Given the description of an element on the screen output the (x, y) to click on. 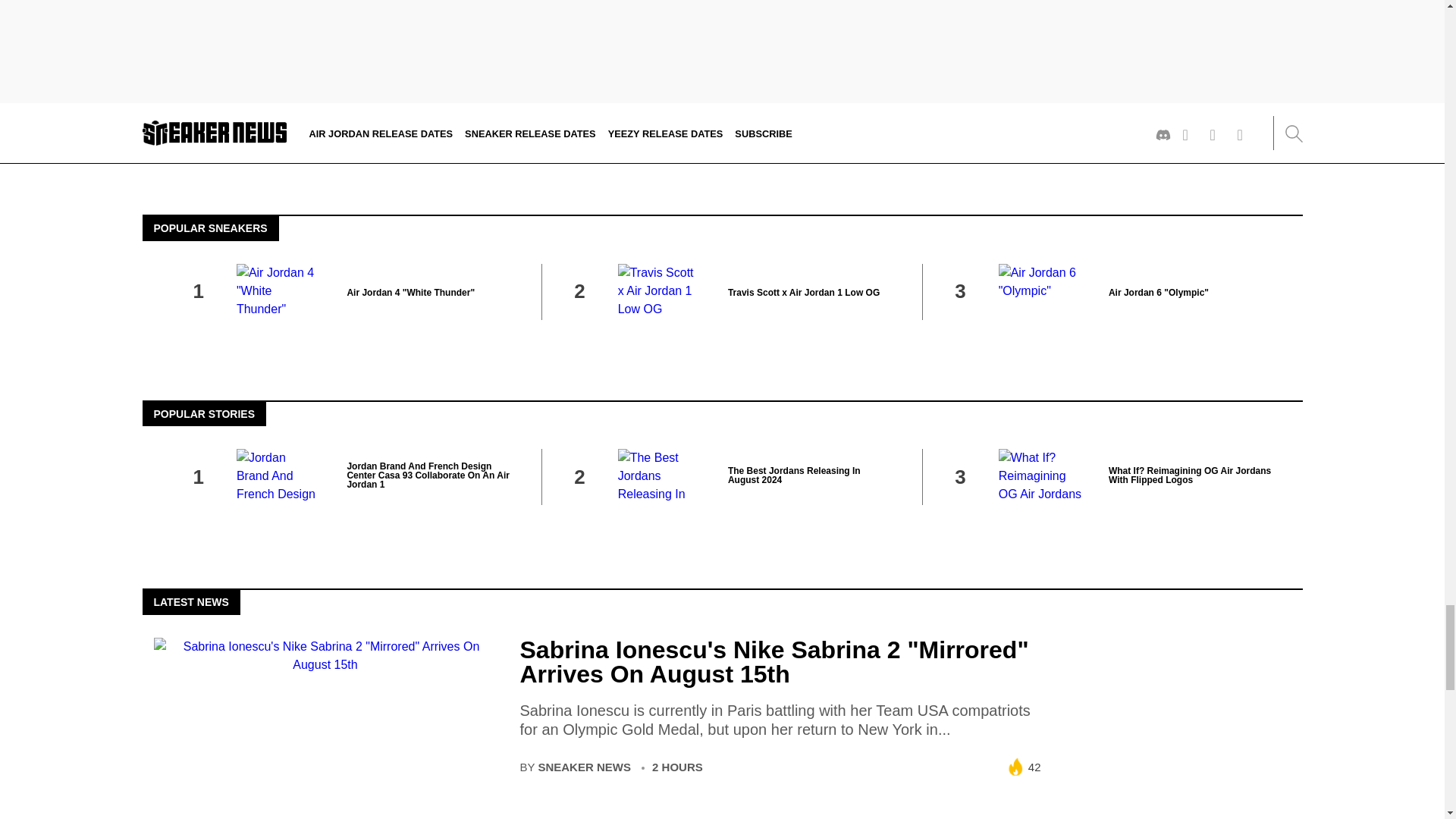
Air Jordan 4 "White Thunder" (410, 292)
Travis Scott x Air Jordan 1 Low OG (803, 292)
Air Jordan 6 "Olympic" (1158, 292)
